Given the description of an element on the screen output the (x, y) to click on. 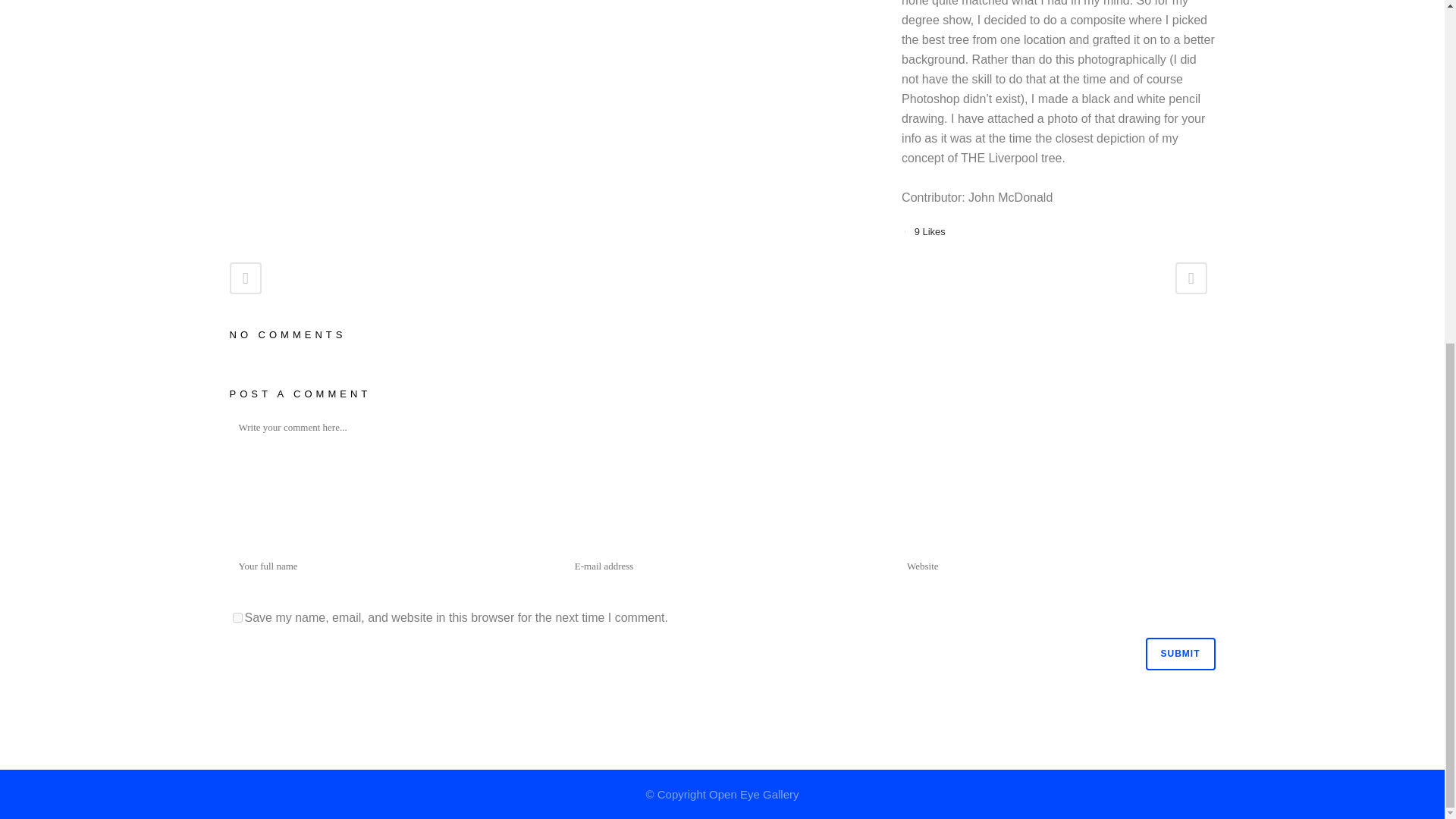
Like this (929, 231)
Submit (1179, 654)
yes (236, 617)
9 Likes (929, 231)
Open Eye Gallery (753, 793)
Submit (1179, 654)
